Given the description of an element on the screen output the (x, y) to click on. 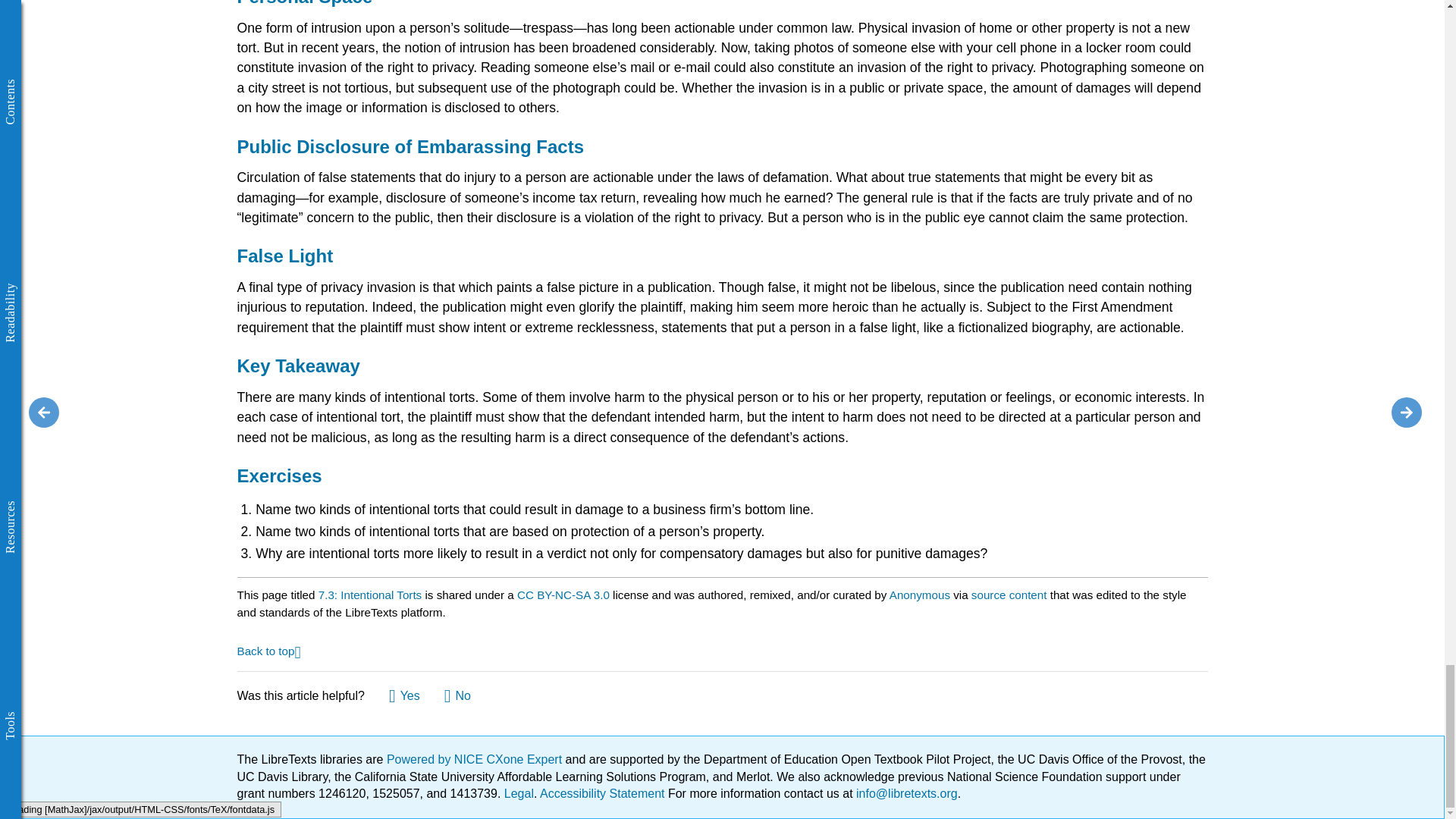
Jump back to top of this article (267, 650)
